Given the description of an element on the screen output the (x, y) to click on. 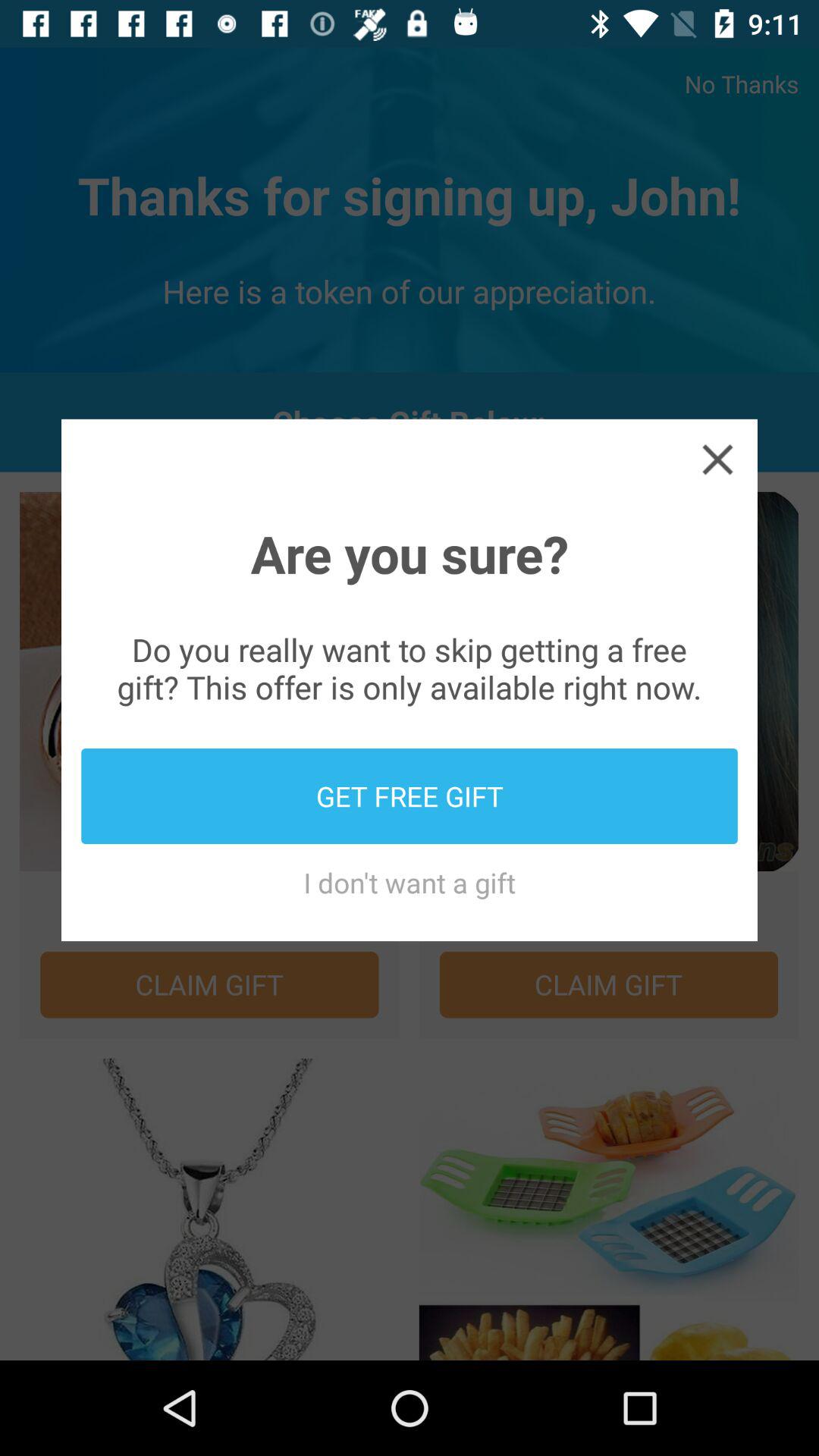
close (717, 458)
